Given the description of an element on the screen output the (x, y) to click on. 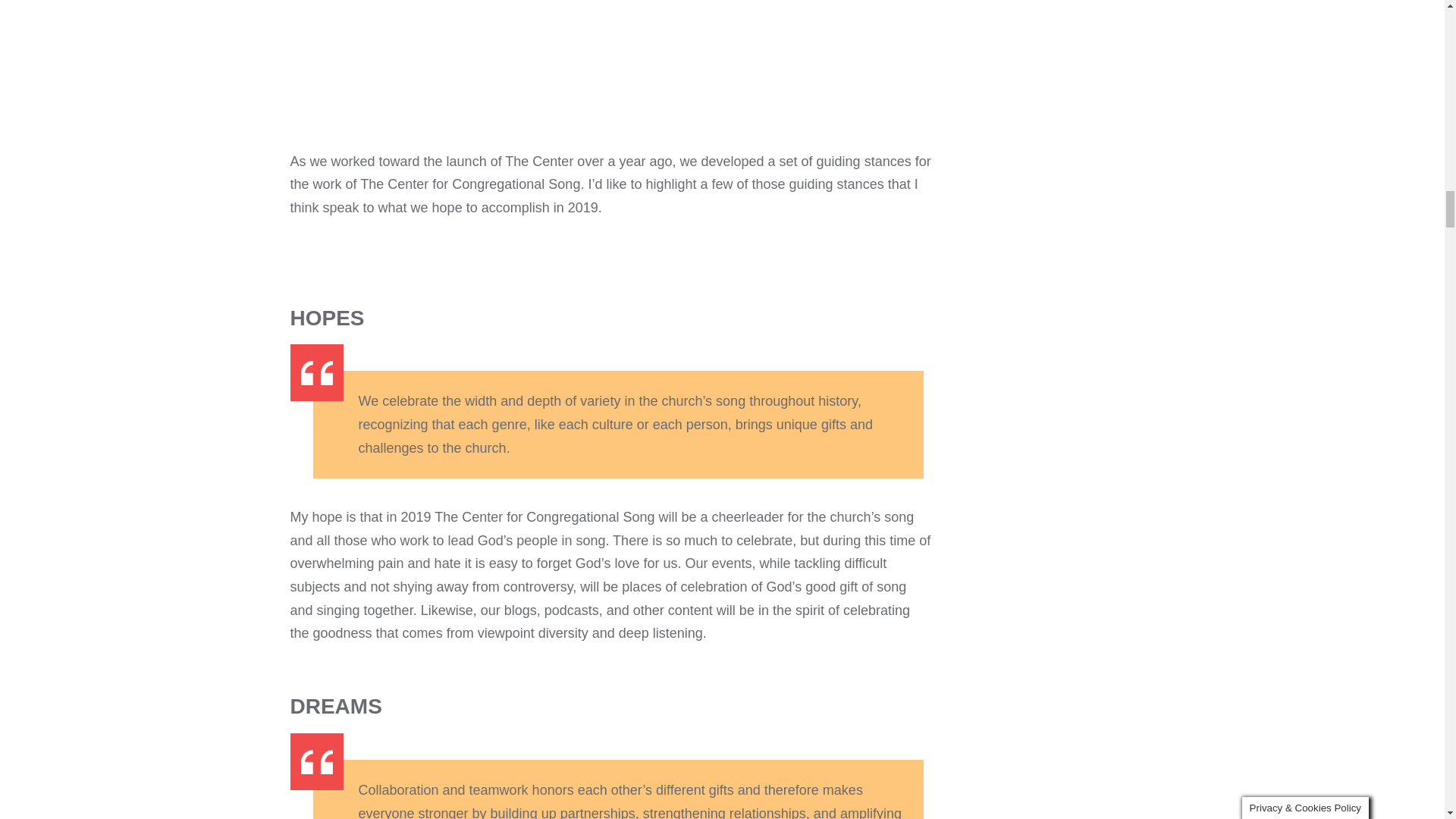
set of guiding stances (844, 160)
